Given the description of an element on the screen output the (x, y) to click on. 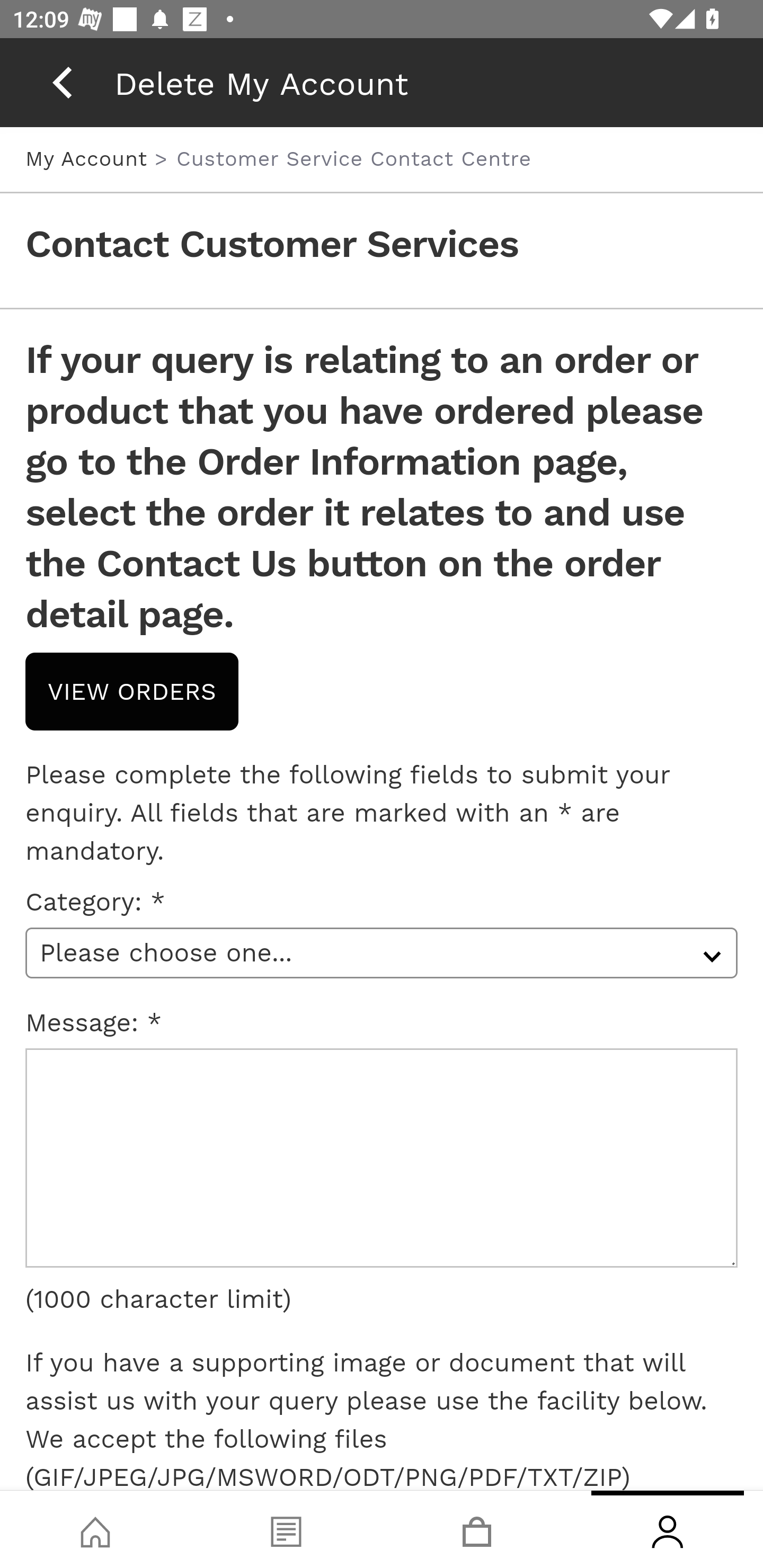
back (61, 82)
My Account  (90, 157)
VIEW ORDERS (132, 691)
Please choose one... (381, 952)
Shop, tab, 1 of 4 (95, 1529)
Blog, tab, 2 of 4 (285, 1529)
Basket, tab, 3 of 4 (476, 1529)
Account, tab, 4 of 4 (667, 1529)
